Given the description of an element on the screen output the (x, y) to click on. 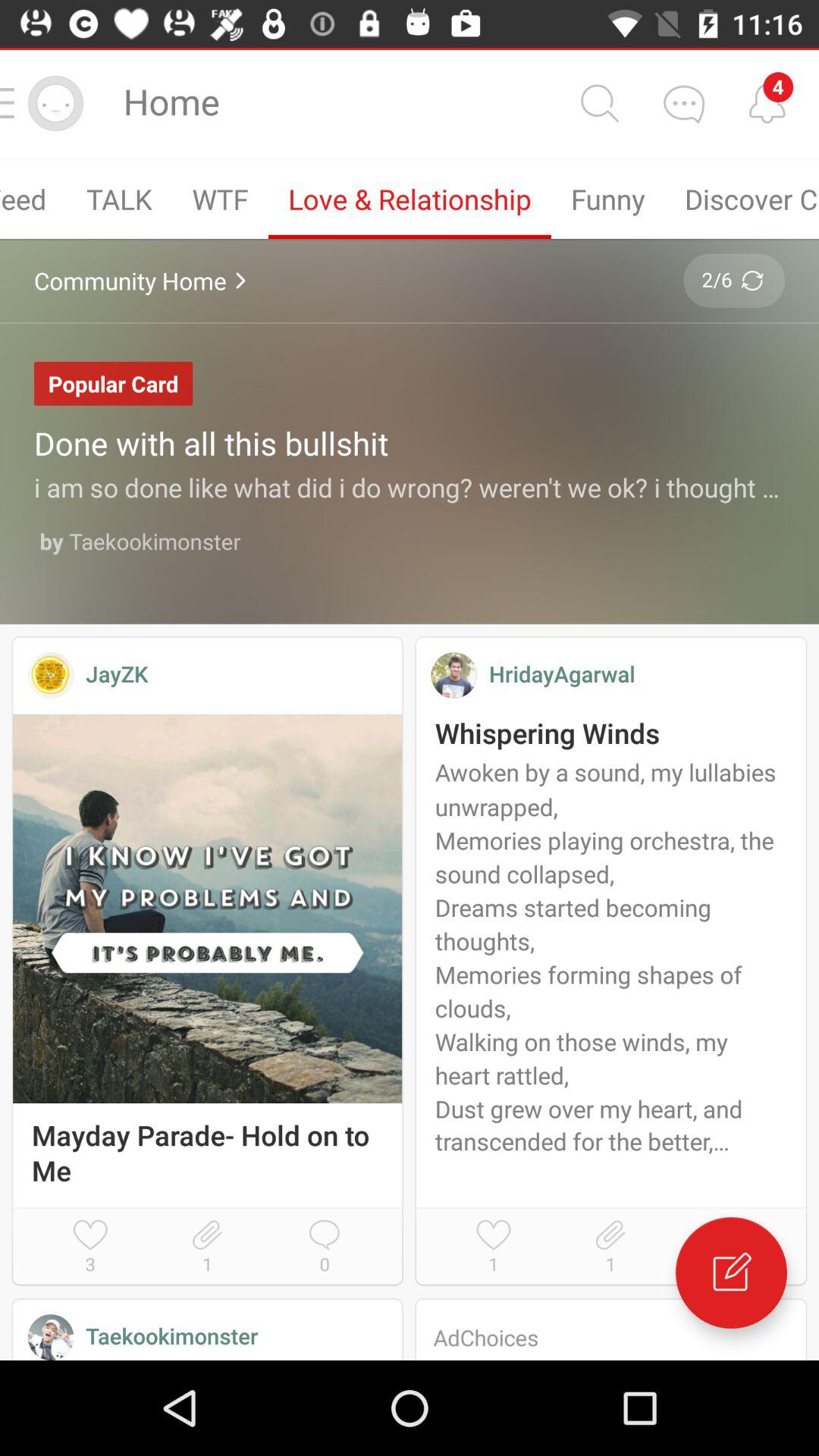
go to back (683, 103)
